Given the description of an element on the screen output the (x, y) to click on. 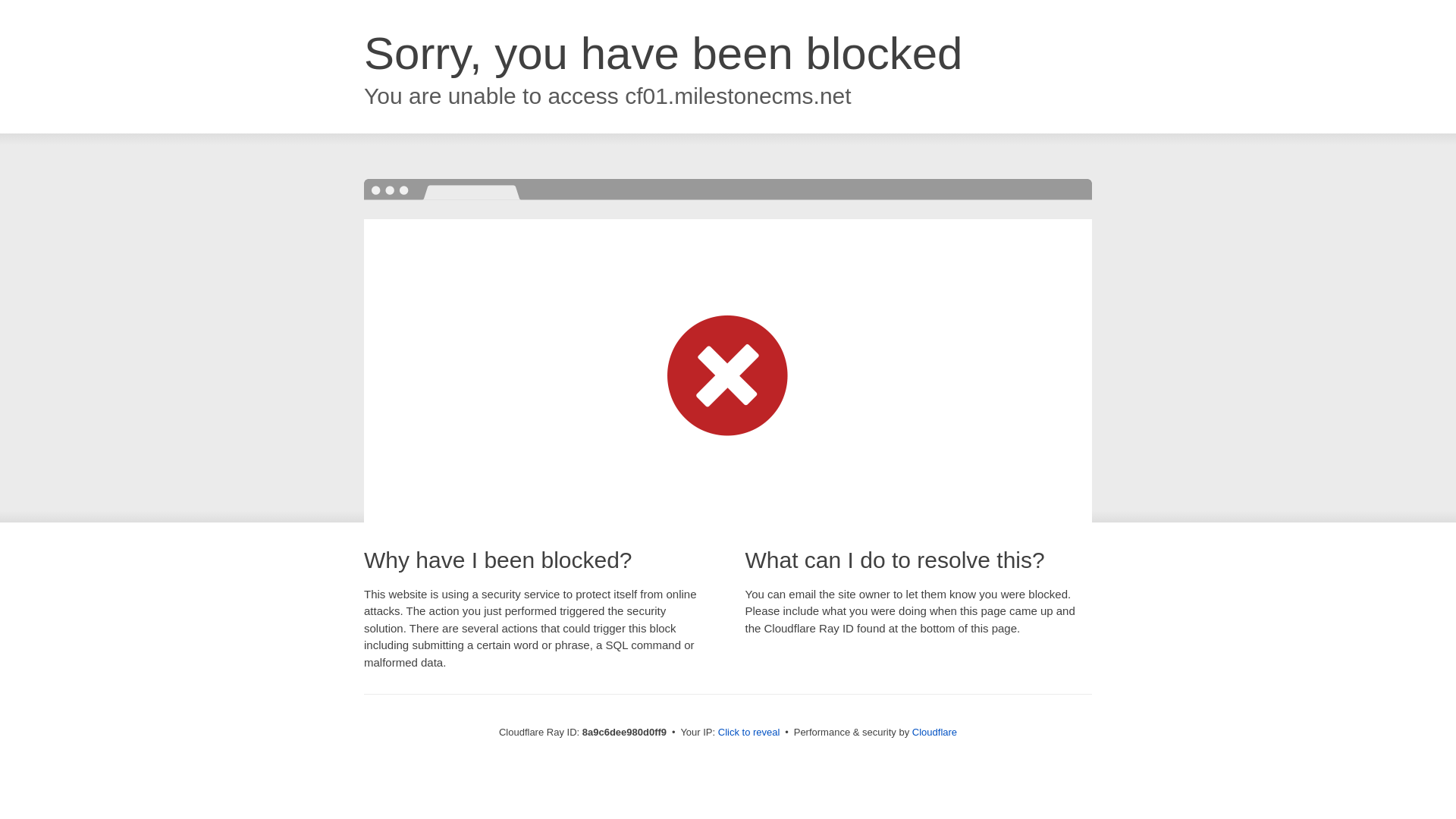
Cloudflare (934, 731)
Click to reveal (748, 732)
